Given the description of an element on the screen output the (x, y) to click on. 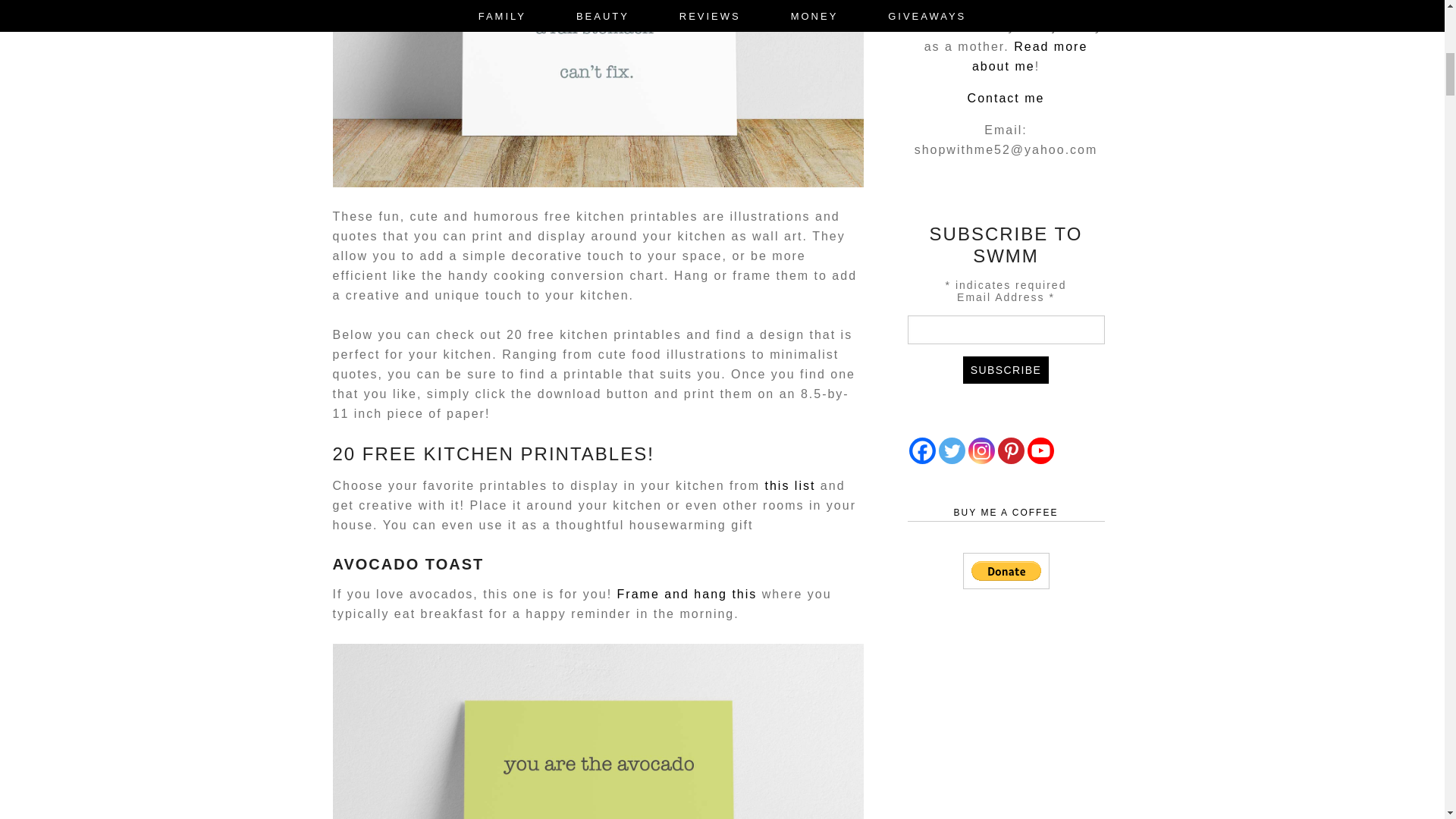
Subscribe (1005, 370)
Free Kitchen Printables (597, 731)
